Given the description of an element on the screen output the (x, y) to click on. 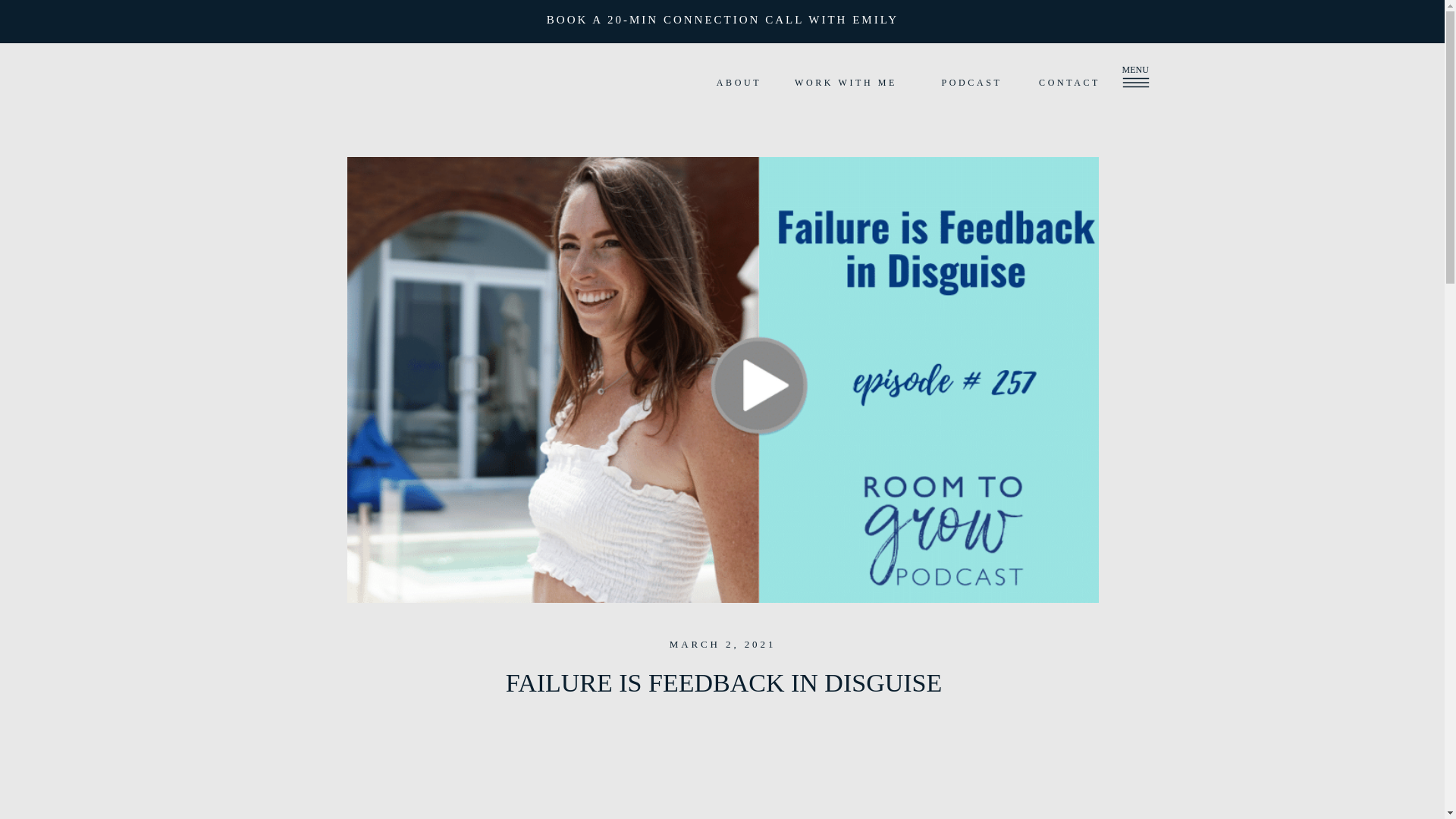
ABOUT (738, 82)
PODCAST (971, 82)
CONTACT (1069, 82)
BOOK A 20-MIN CONNECTION CALL WITH EMILY (722, 21)
WORK WITH ME (846, 82)
